Given the description of an element on the screen output the (x, y) to click on. 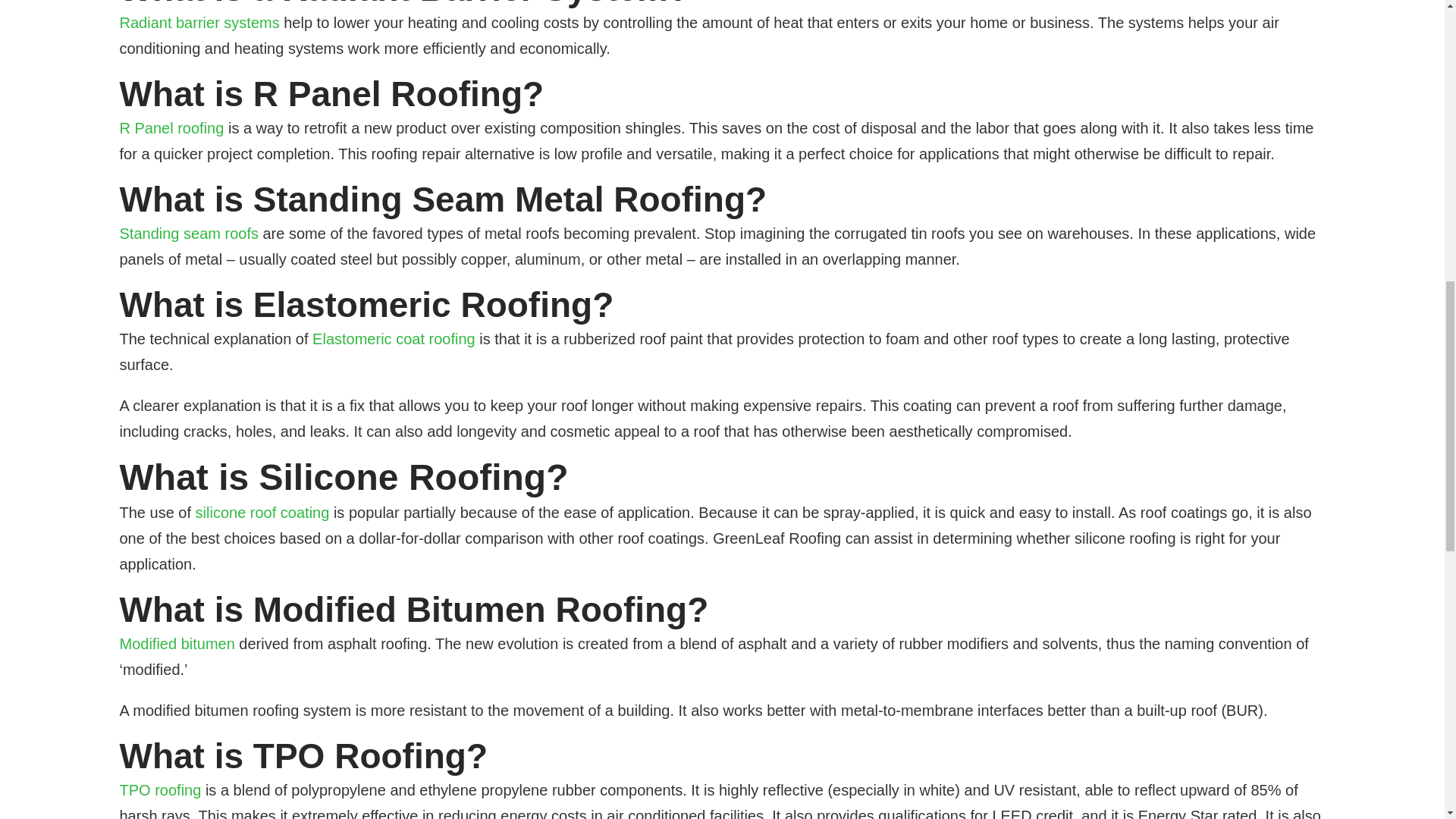
silicone roof coating (262, 512)
Radiant barrier systems (199, 22)
Standing seam roofs (189, 233)
Modified bitumen (176, 643)
TPO roofing (160, 790)
R Panel roofing (171, 127)
Elastomeric coat roofing (394, 338)
